Given the description of an element on the screen output the (x, y) to click on. 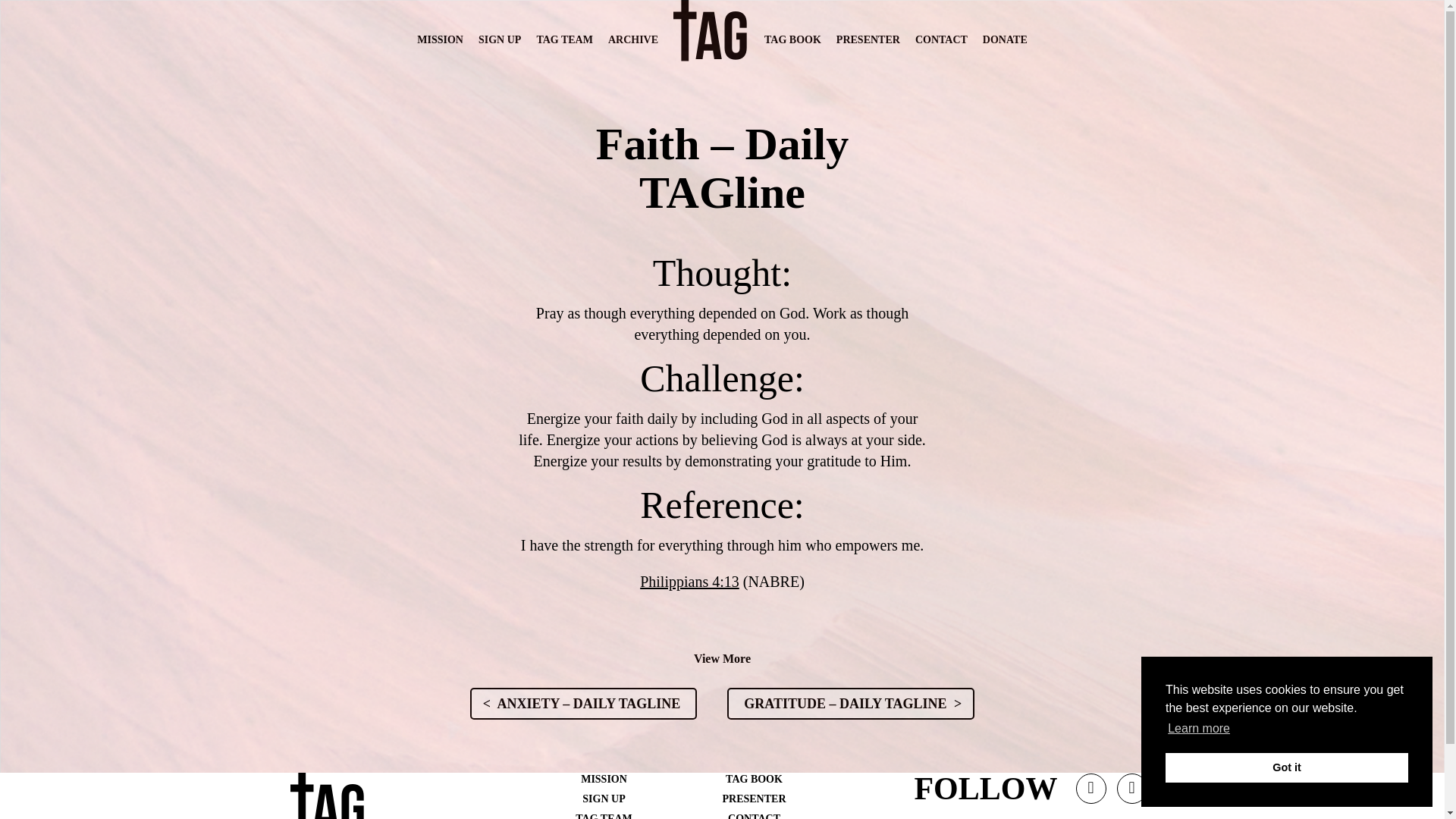
TAG TEAM (563, 39)
DONATE (1004, 39)
Facebook (1132, 793)
Got it (1286, 767)
CONTACT (754, 816)
PRESENTER (867, 39)
CONTACT (941, 39)
Twitter (1091, 793)
HOME (710, 71)
ARCHIVE (633, 39)
TAG TEAM (603, 816)
SIGN UP (603, 798)
Learn more (1198, 728)
MISSION (603, 778)
Philippians 4:13 (689, 581)
